Given the description of an element on the screen output the (x, y) to click on. 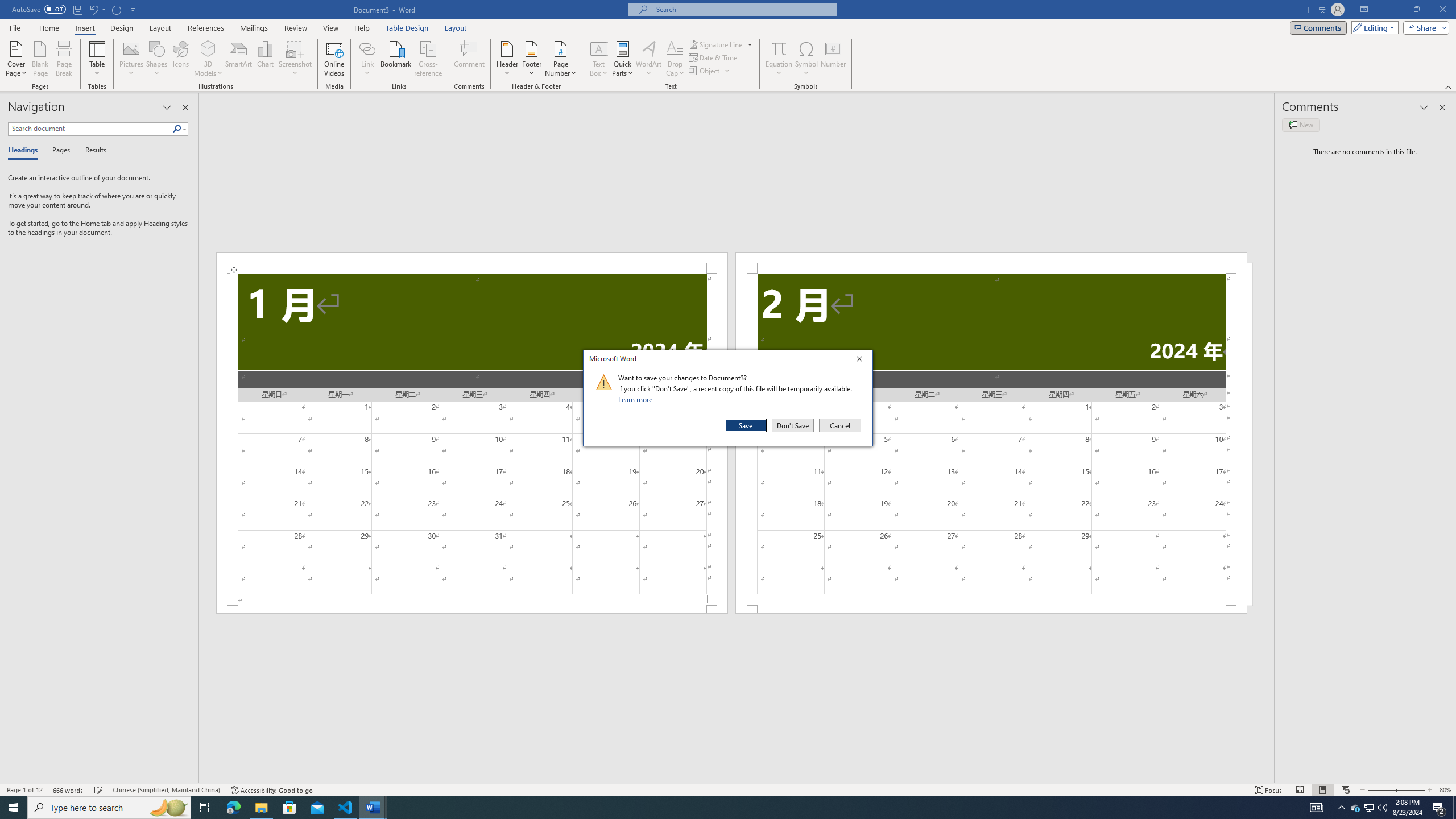
Print Layout (1322, 790)
Footer -Section 1- (471, 609)
Shapes (156, 58)
View (330, 28)
Number... (833, 58)
Object... (709, 69)
Zoom In (1408, 790)
Online Videos... (333, 58)
Pictures (131, 58)
Mailings (253, 28)
AutoSave (38, 9)
Microsoft search (742, 9)
Footer (531, 58)
Table Design (407, 28)
Read Mode (1299, 790)
